Given the description of an element on the screen output the (x, y) to click on. 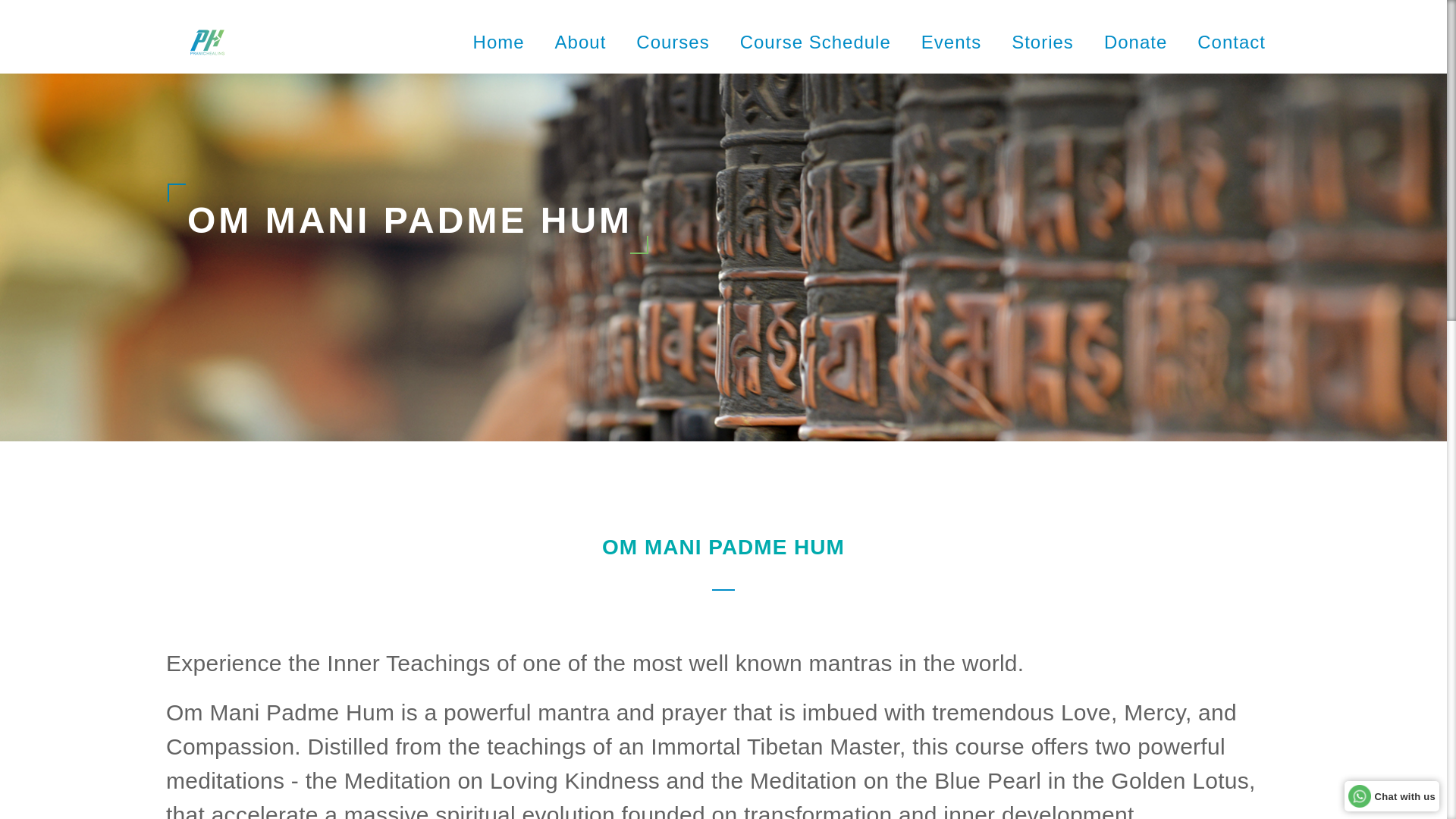
Stories (1042, 42)
Course Schedule (815, 42)
Contact (1230, 42)
Home (498, 42)
Events (951, 42)
Donate (1135, 42)
Courses (672, 42)
About (580, 42)
Chat with us (1391, 795)
